Given the description of an element on the screen output the (x, y) to click on. 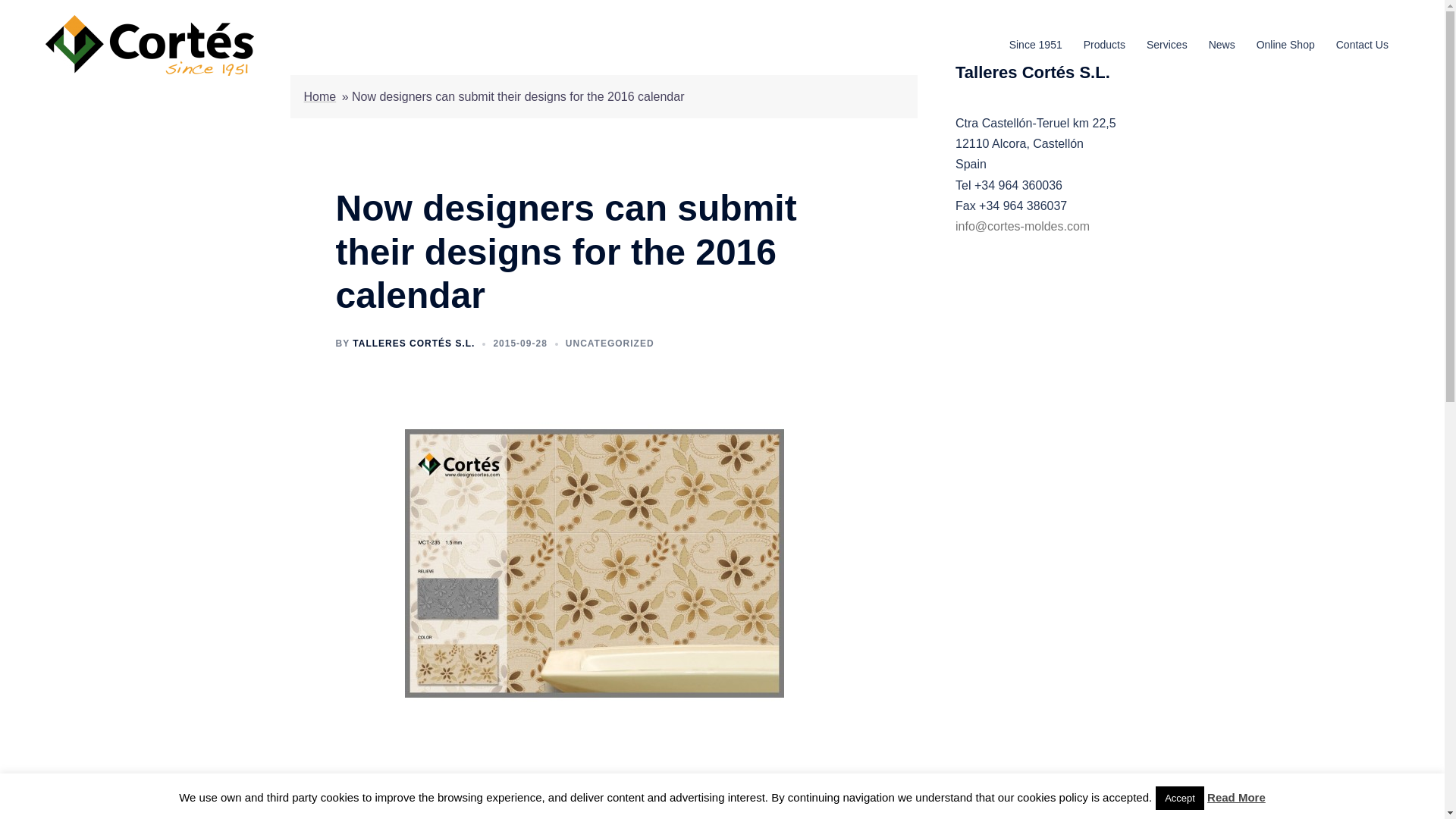
Services (1167, 45)
Contact Us (1362, 45)
Products (1104, 45)
UNCATEGORIZED (609, 343)
Accept (1180, 797)
Search (47, 18)
Since 1951 (1035, 45)
News (1221, 45)
2015-09-28 (520, 343)
Home (319, 96)
